Given the description of an element on the screen output the (x, y) to click on. 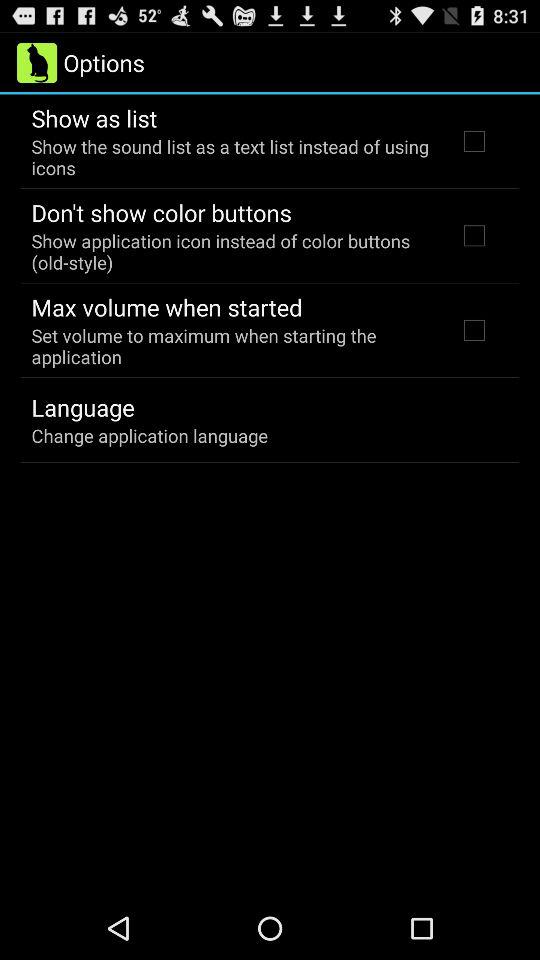
tap the icon above the show application icon item (161, 212)
